Given the description of an element on the screen output the (x, y) to click on. 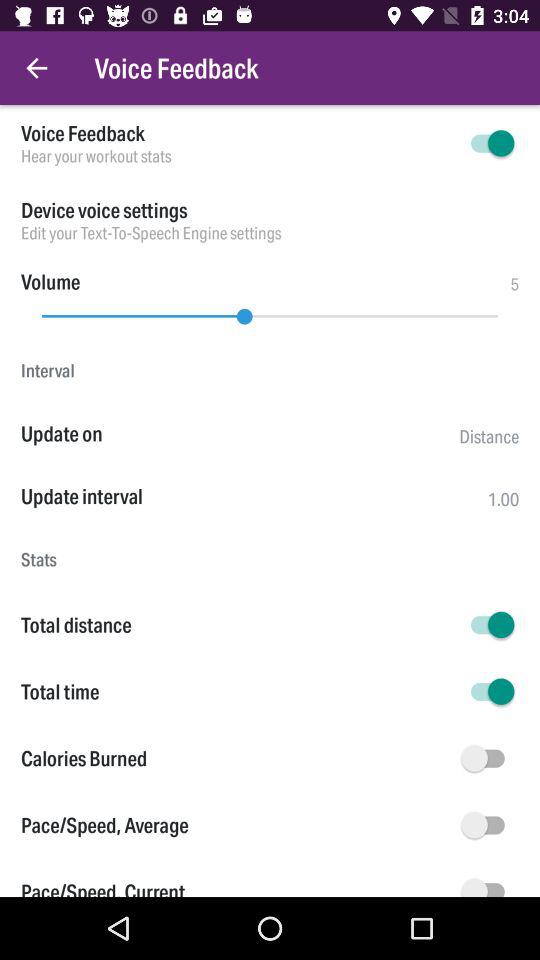
swipe until the total distance (238, 624)
